Given the description of an element on the screen output the (x, y) to click on. 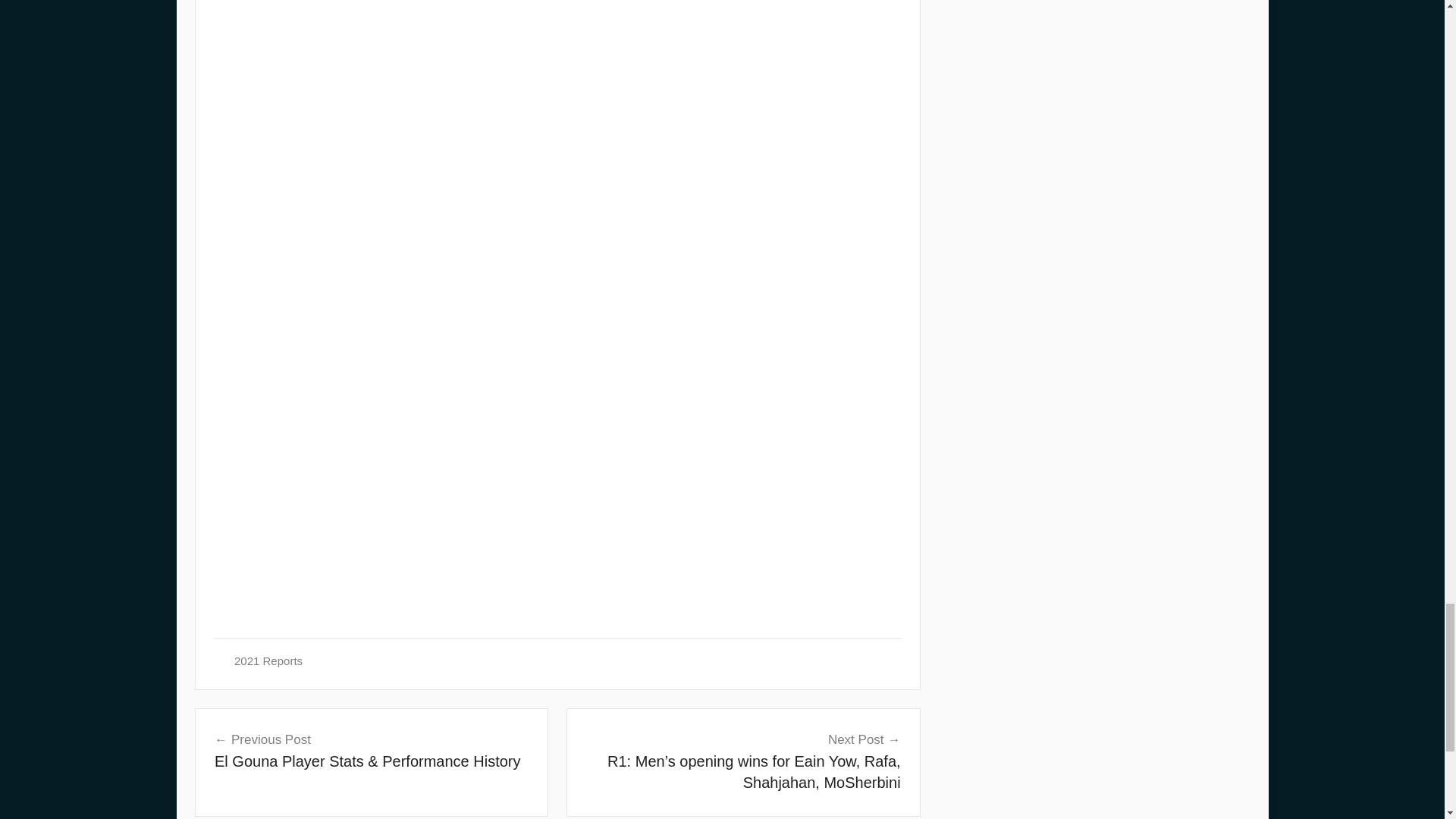
GS033722 (440, 72)
2021 Reports (268, 660)
GS033724 (784, 1)
GS033720 (784, 74)
